Given the description of an element on the screen output the (x, y) to click on. 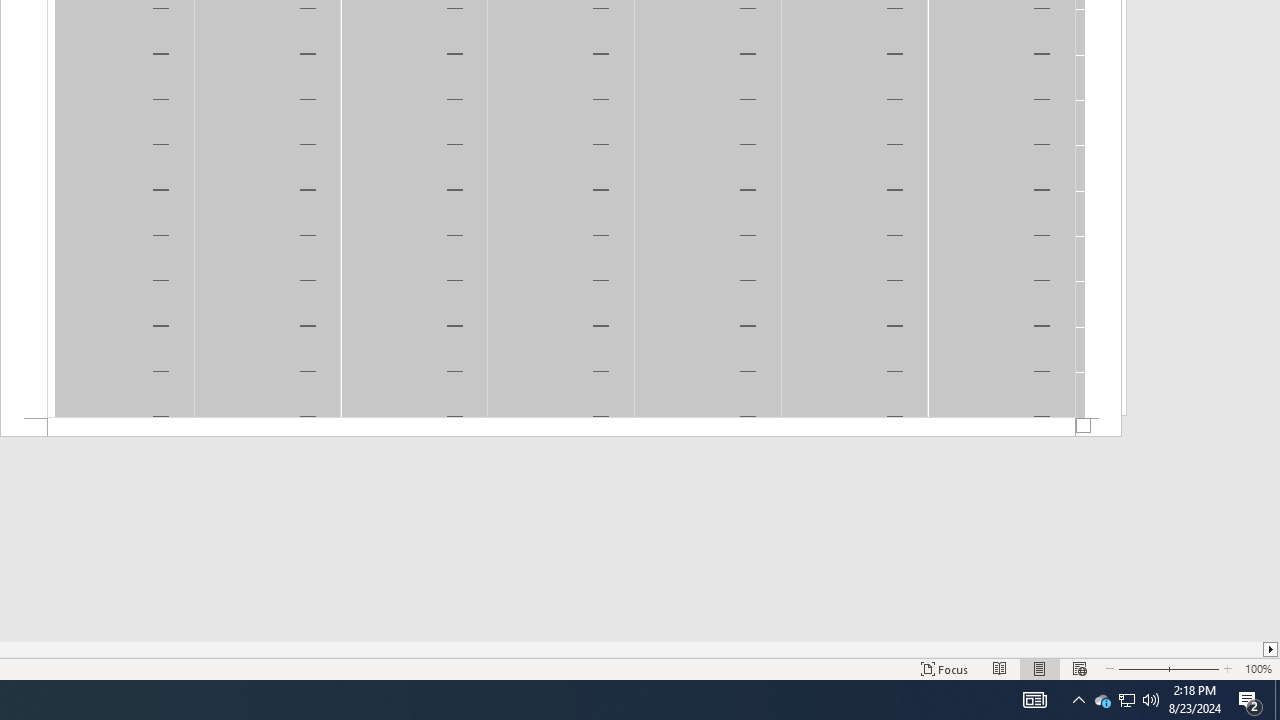
Column right (1271, 649)
